Given the description of an element on the screen output the (x, y) to click on. 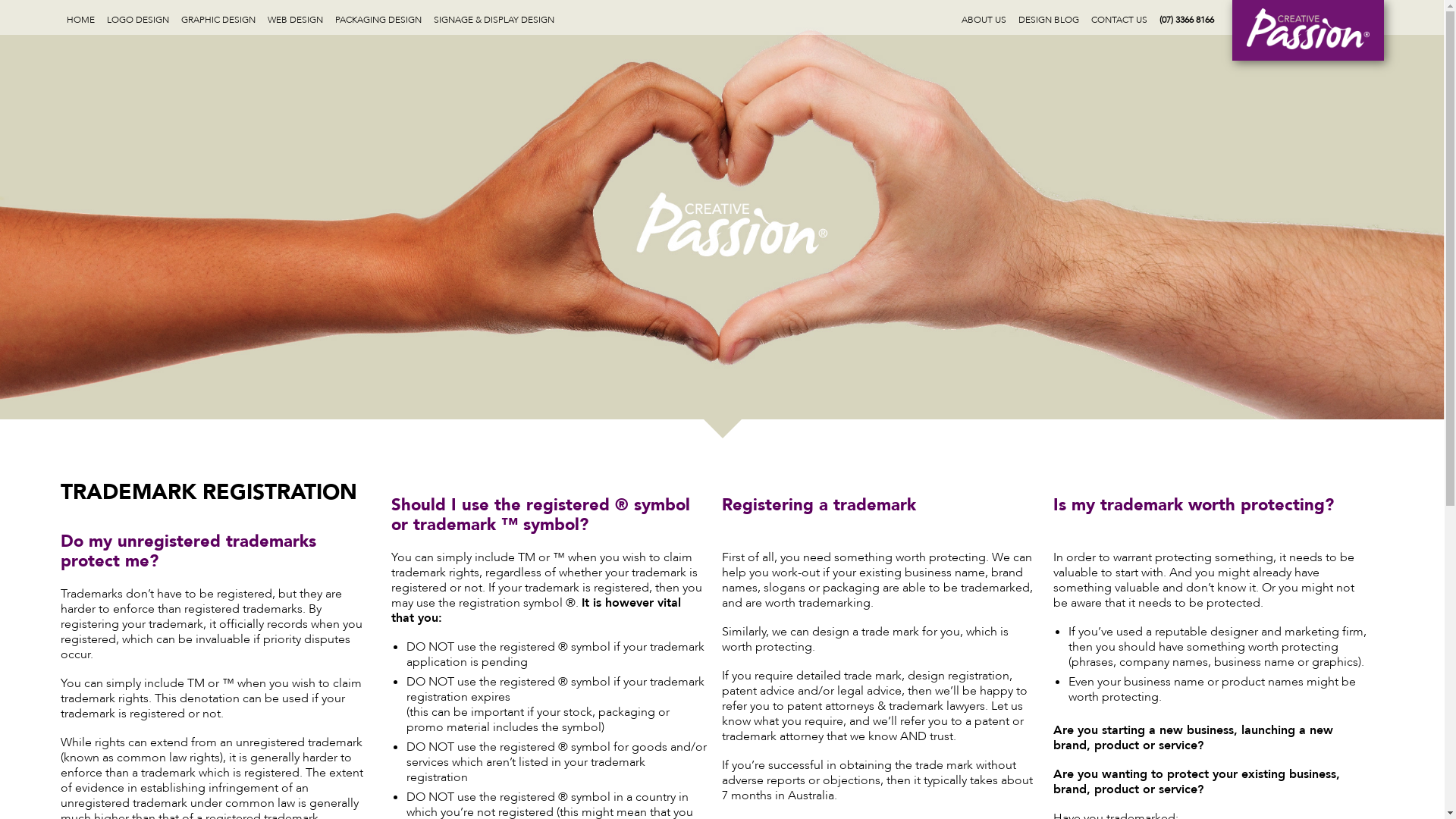
PACKAGING DESIGN Element type: text (378, 17)
(07) 3366 8166 Element type: text (1186, 17)
WEB DESIGN Element type: text (295, 17)
HOME Element type: text (80, 17)
DESIGN BLOG Element type: text (1048, 17)
SIGNAGE & DISPLAY DESIGN Element type: text (493, 17)
Creative Passion Element type: hover (1307, 28)
CONTACT US Element type: text (1119, 17)
ABOUT US Element type: text (983, 17)
GRAPHIC DESIGN Element type: text (218, 17)
LOGO DESIGN Element type: text (137, 17)
